Given the description of an element on the screen output the (x, y) to click on. 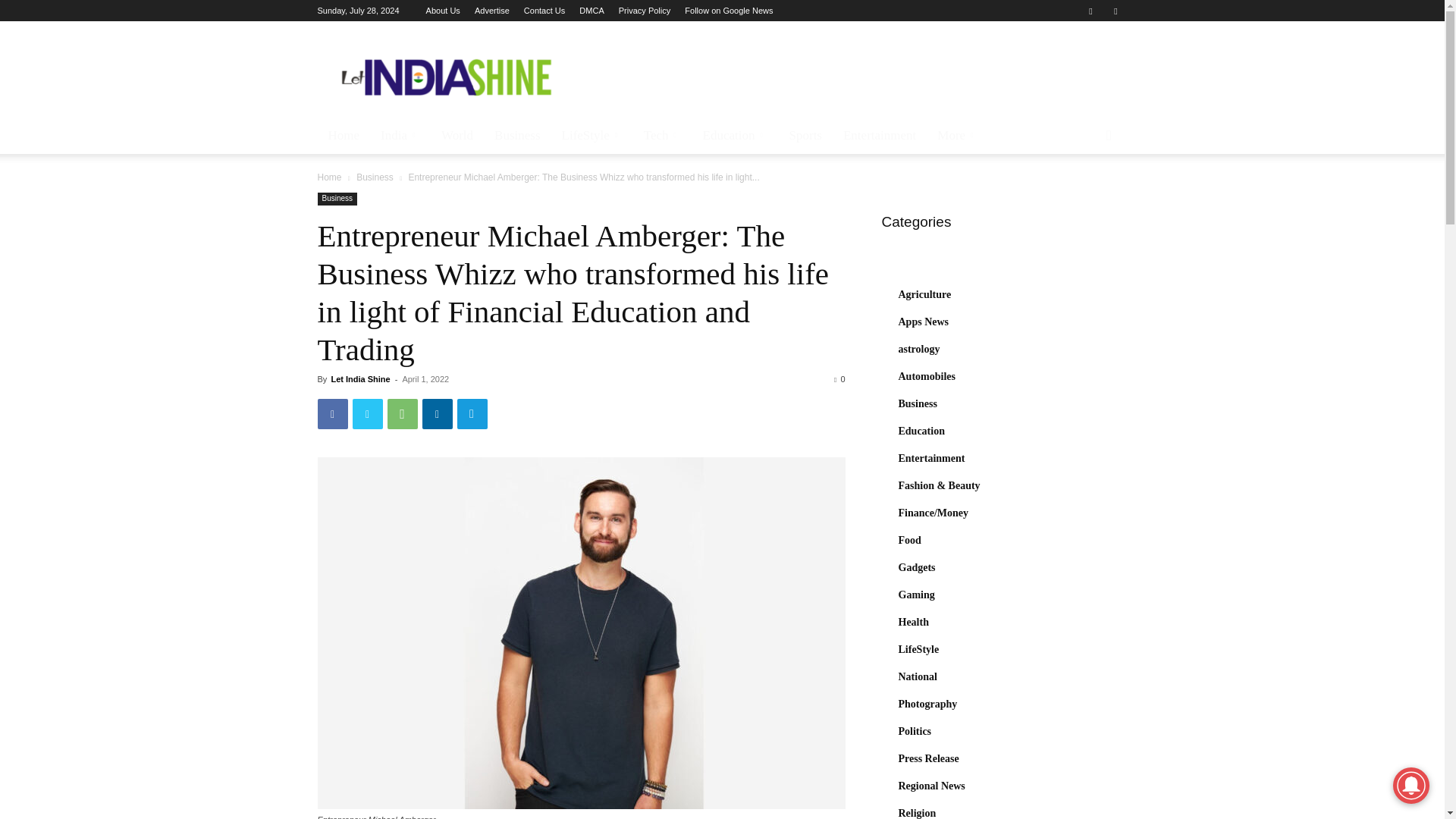
Privacy Policy (643, 10)
About Us (443, 10)
Facebook (1090, 10)
View all posts in Business (374, 176)
DMCA (591, 10)
Twitter (366, 413)
Contact Us (544, 10)
Telegram (471, 413)
Linkedin (436, 413)
Advertise (491, 10)
Twitter (1114, 10)
Facebook (332, 413)
WhatsApp (401, 413)
Follow on Google News (728, 10)
